Given the description of an element on the screen output the (x, y) to click on. 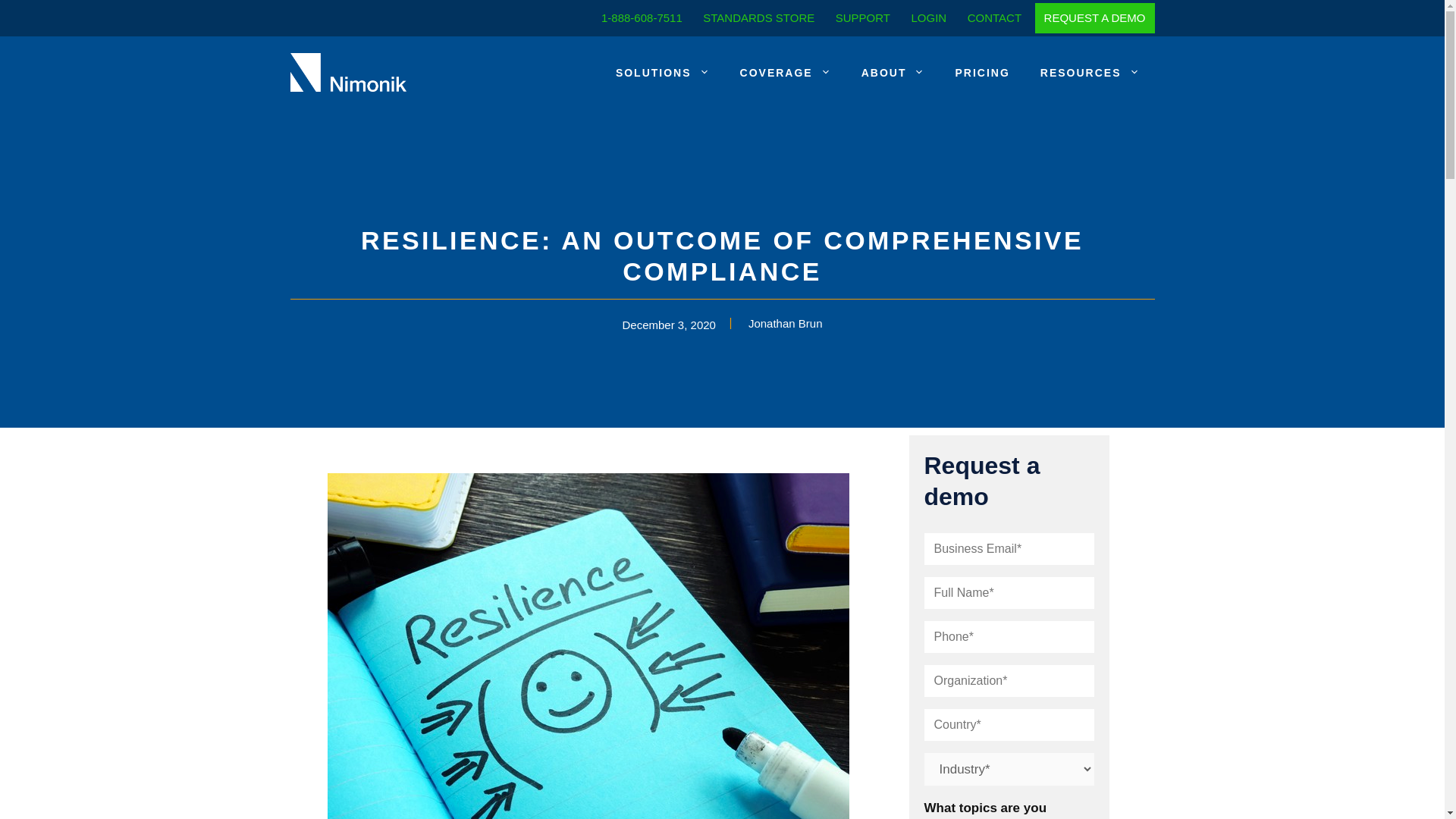
STANDARDS STORE (758, 18)
SUPPORT (862, 18)
COVERAGE (785, 72)
REQUEST A DEMO (1094, 18)
1-888-608-7511 (641, 18)
SOLUTIONS (662, 72)
CONTACT (995, 18)
LOGIN (928, 18)
